Given the description of an element on the screen output the (x, y) to click on. 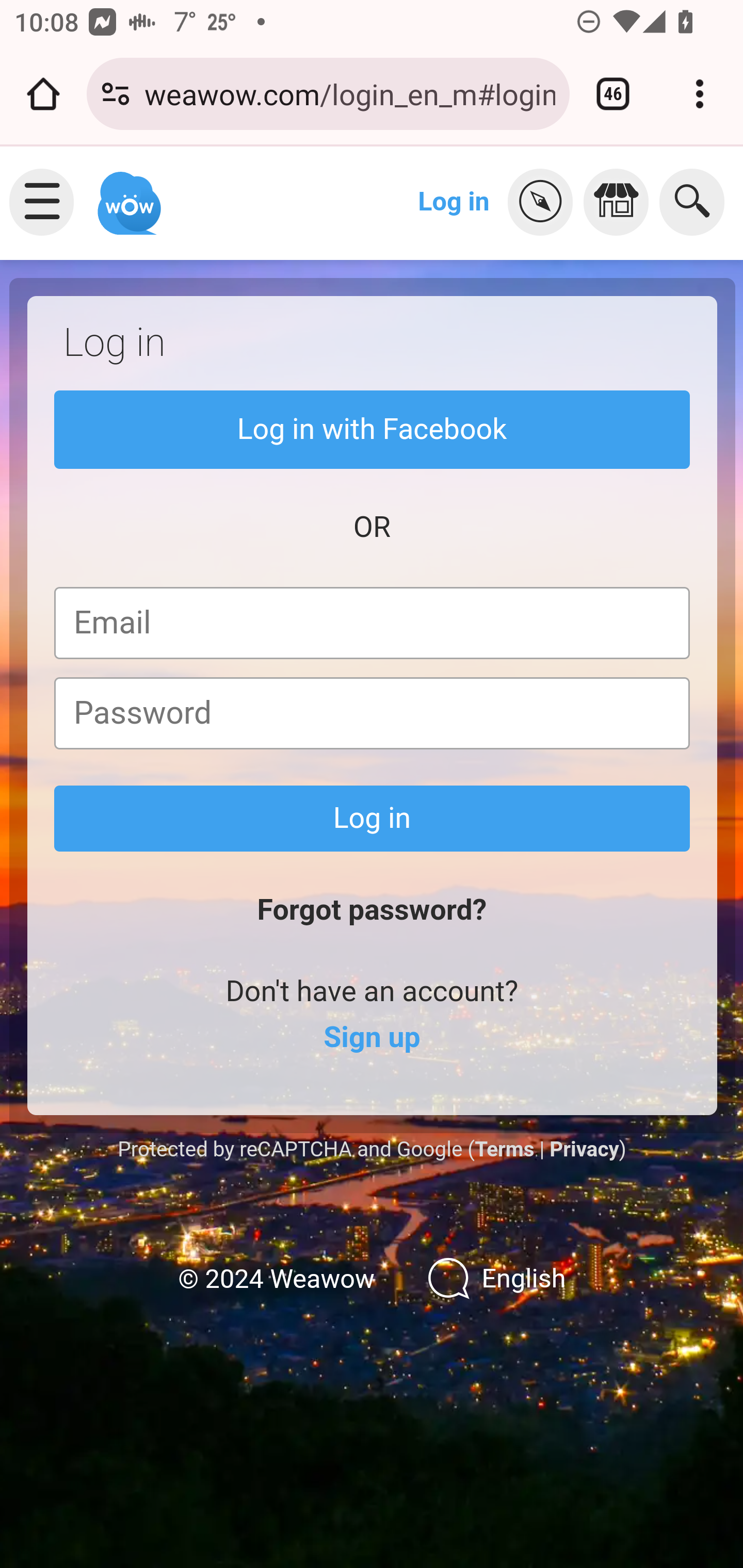
Open the home page (43, 93)
Connection is secure (115, 93)
Switch or close tabs (612, 93)
Customize and control Google Chrome (699, 93)
weawow.com/login_en_m#login (349, 92)
Weawow (127, 194)
 (545, 201)
 (621, 201)
Log in (453, 201)
Log in (372, 817)
Forgot password? (371, 910)
Sign up (371, 1037)
Terms (503, 1148)
Privacy (583, 1148)
© 2024 Weawow (275, 1279)
